Given the description of an element on the screen output the (x, y) to click on. 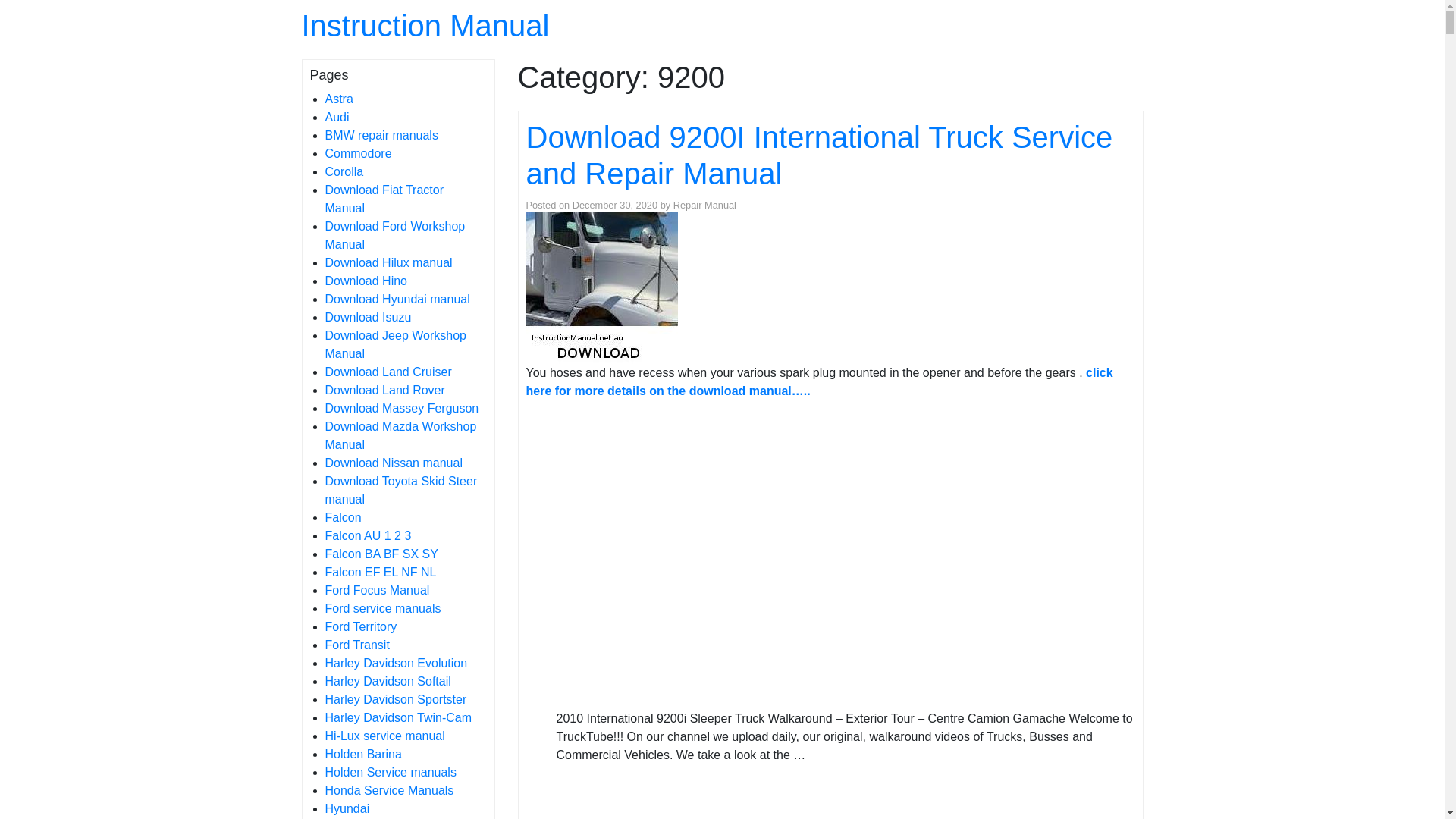
Holden Service manuals Element type: text (389, 771)
Download Nissan manual Element type: text (392, 462)
Download Land Cruiser Element type: text (387, 371)
Hi-Lux service manual Element type: text (384, 735)
Repair Manual Element type: text (704, 204)
Falcon AU 1 2 3 Element type: text (367, 535)
Holden Barina Element type: text (362, 753)
Falcon BA BF SX SY Element type: text (380, 553)
Download Hilux manual Element type: text (387, 262)
Harley Davidson Softail Element type: text (387, 680)
Harley Davidson Sportster Element type: text (395, 699)
Download Jeep Workshop Manual Element type: text (394, 344)
Download Massey Ferguson Element type: text (401, 407)
Falcon Element type: text (342, 517)
Corolla Element type: text (343, 171)
Download Ford Workshop Manual Element type: text (394, 235)
Download Hyundai manual Element type: text (396, 298)
Download 9200I International Truck Service and Repair Manual Element type: text (819, 155)
Harley Davidson Twin-Cam Element type: text (397, 717)
Hyundai Element type: text (346, 808)
Instruction Manual Element type: text (425, 25)
Audi Element type: text (336, 116)
Download Land Rover Element type: text (384, 389)
December 30, 2020 Element type: text (614, 204)
Commodore Element type: text (357, 153)
Honda Service Manuals Element type: text (388, 790)
Falcon EF EL NF NL Element type: text (380, 571)
BMW repair manuals Element type: text (380, 134)
Ford service manuals Element type: text (382, 608)
Ford Transit Element type: text (356, 644)
Ford Territory Element type: text (360, 626)
Download Hino Element type: text (365, 280)
Download Fiat Tractor Manual Element type: text (383, 198)
Ford Focus Manual Element type: text (376, 589)
Download Isuzu Element type: text (367, 316)
Harley Davidson Evolution Element type: text (395, 662)
Download Mazda Workshop Manual Element type: text (400, 435)
Download Toyota Skid Steer manual Element type: text (400, 489)
Astra Element type: text (338, 98)
